Given the description of an element on the screen output the (x, y) to click on. 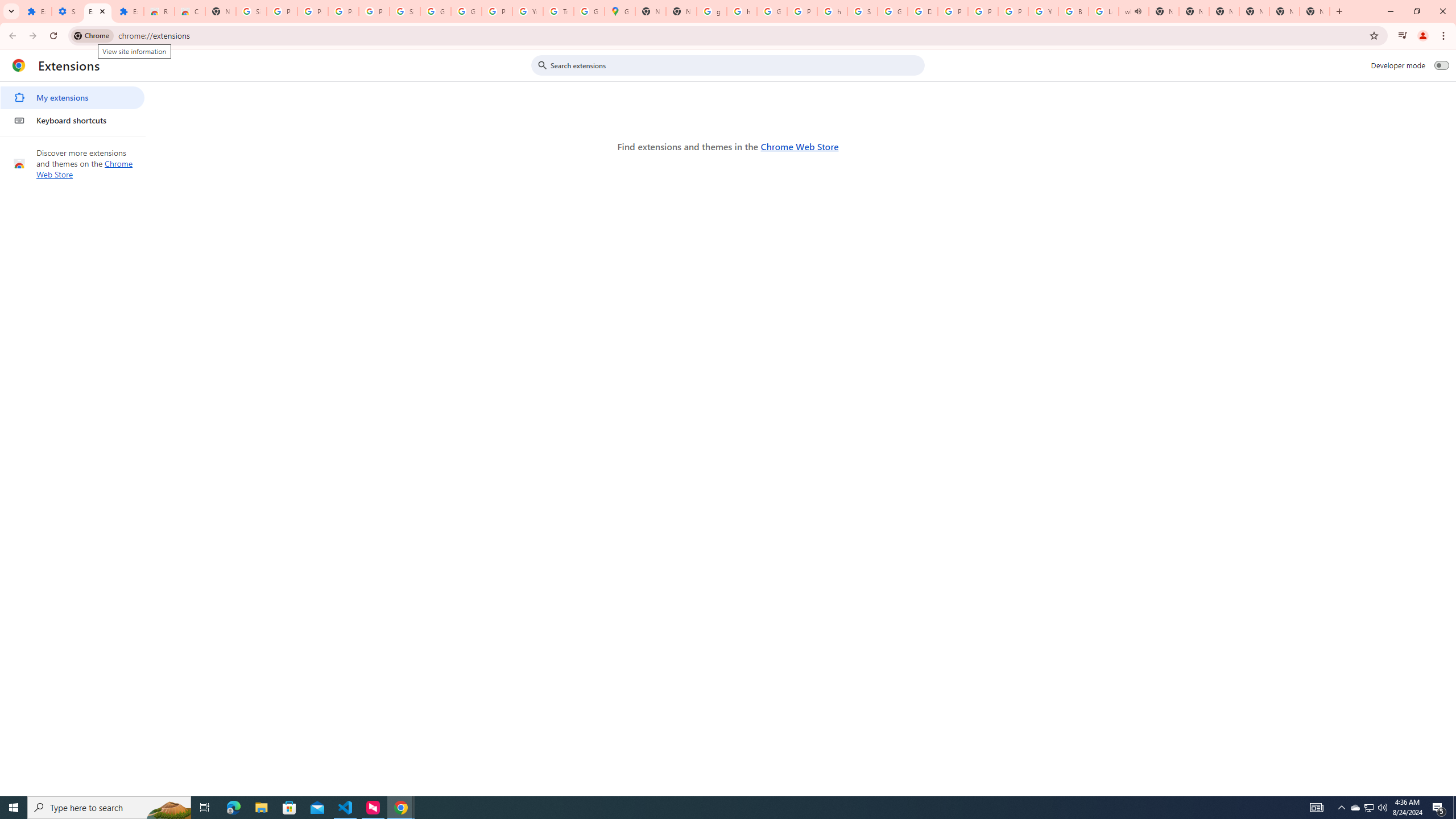
https://scholar.google.com/ (832, 11)
Reviews: Helix Fruit Jump Arcade Game (158, 11)
Search extensions (735, 65)
Privacy Help Center - Policies Help (982, 11)
Sign in - Google Accounts (251, 11)
Chrome Web Store - Themes (189, 11)
New Tab (1314, 11)
